Given the description of an element on the screen output the (x, y) to click on. 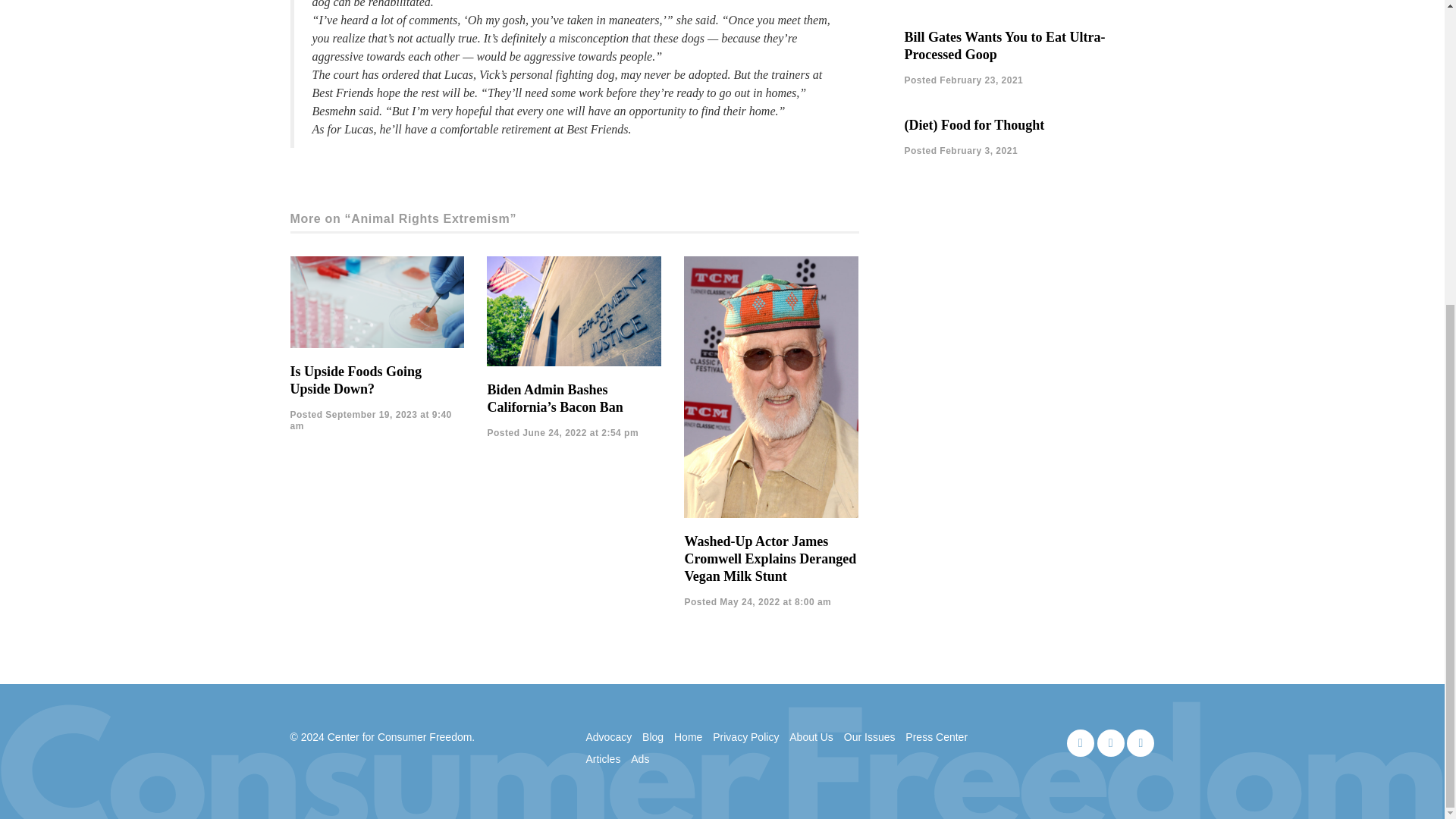
Is Upside Foods Going Upside Down? (355, 379)
